Given the description of an element on the screen output the (x, y) to click on. 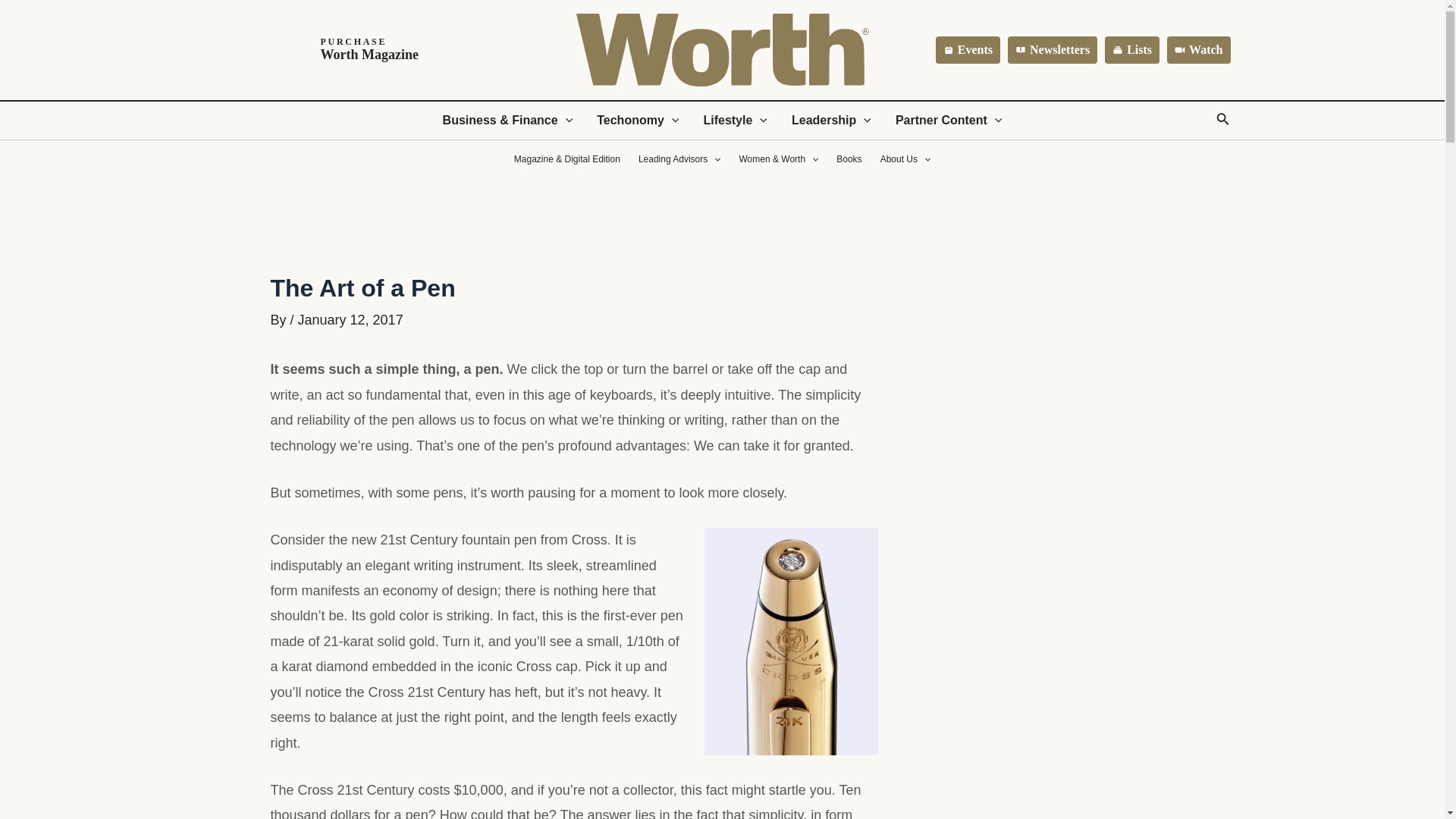
Watch (1198, 49)
Partner Content (948, 120)
Leading Advisors (679, 159)
Newsletters (1052, 49)
Lists (1131, 49)
Leadership (830, 120)
Events (968, 49)
Techonomy (637, 120)
Lifestyle (330, 49)
